Given the description of an element on the screen output the (x, y) to click on. 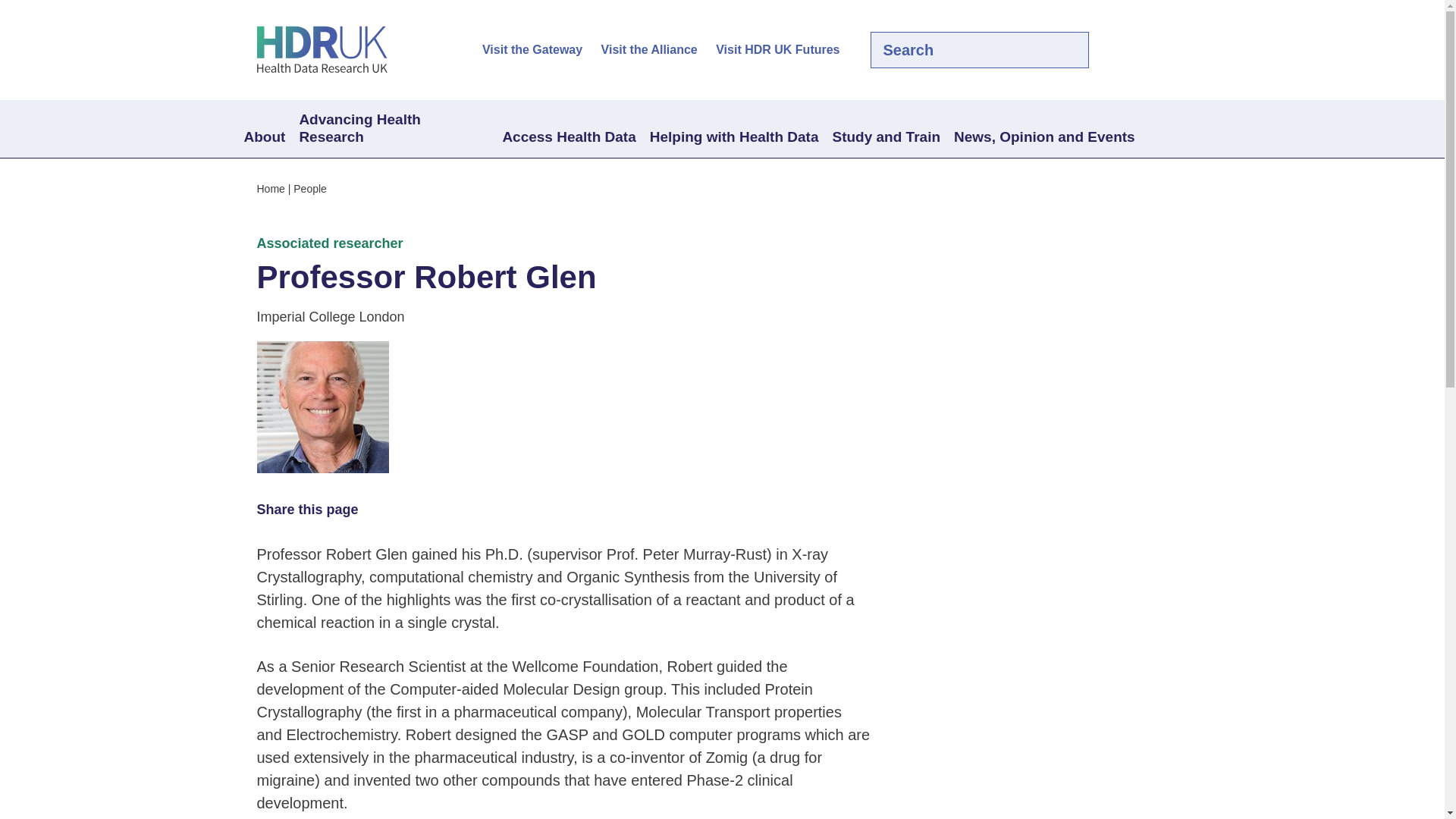
Helping with Health Data (734, 137)
Twitter (1126, 50)
Visit the Gateway (531, 49)
LinkedIn (1152, 50)
Access Health Data (568, 137)
Visit HDR UK Futures (778, 49)
YouTube (1179, 50)
Advancing Health Research (393, 128)
Visit the Alliance (649, 49)
About (263, 137)
